Given the description of an element on the screen output the (x, y) to click on. 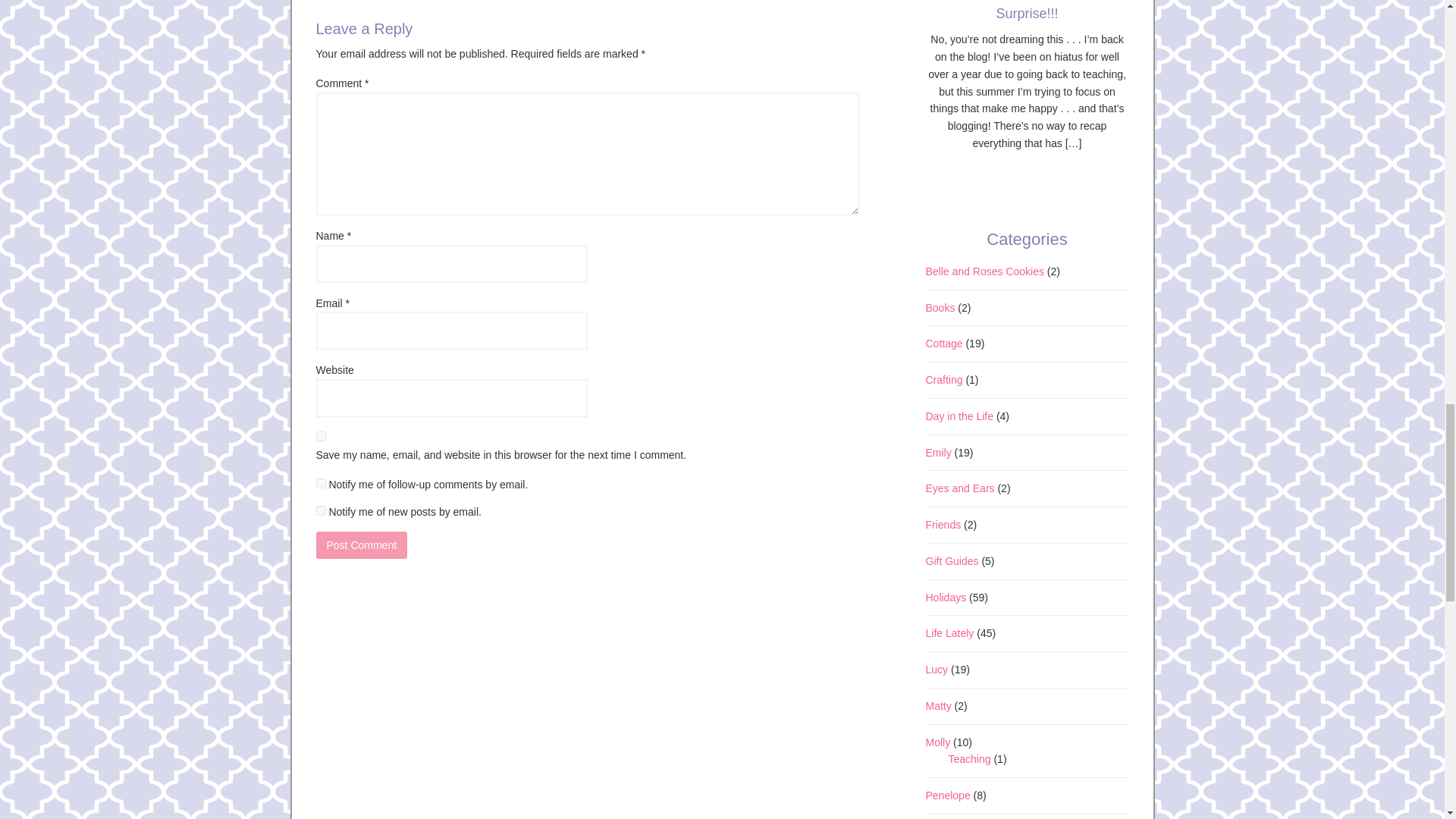
subscribe (319, 482)
Matty (937, 705)
yes (319, 436)
Gift Guides (951, 561)
Books (939, 307)
Friends (942, 524)
Crafting (943, 379)
Eyes and Ears (959, 488)
Belle and Roses Cookies (983, 271)
Life Lately (949, 633)
